Given the description of an element on the screen output the (x, y) to click on. 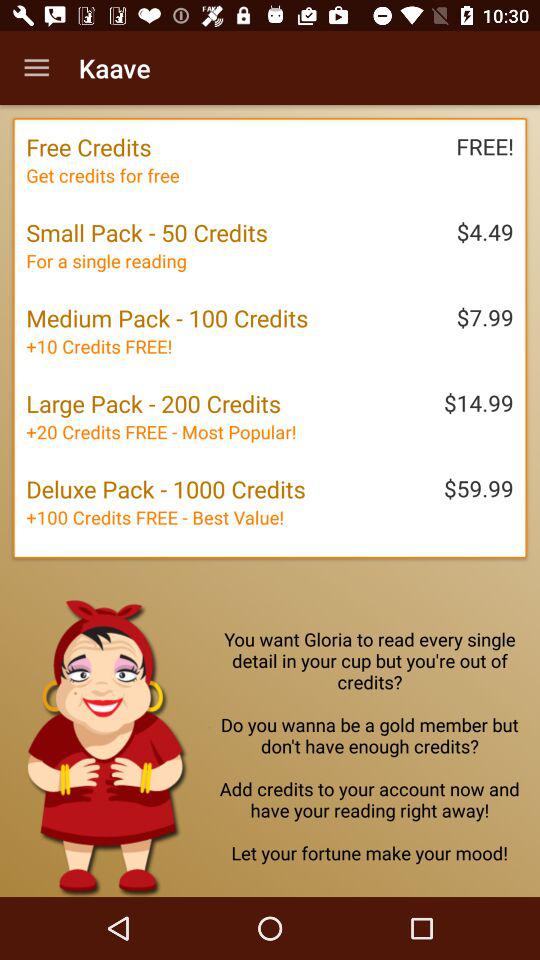
press the item next to the kaave item (36, 68)
